Given the description of an element on the screen output the (x, y) to click on. 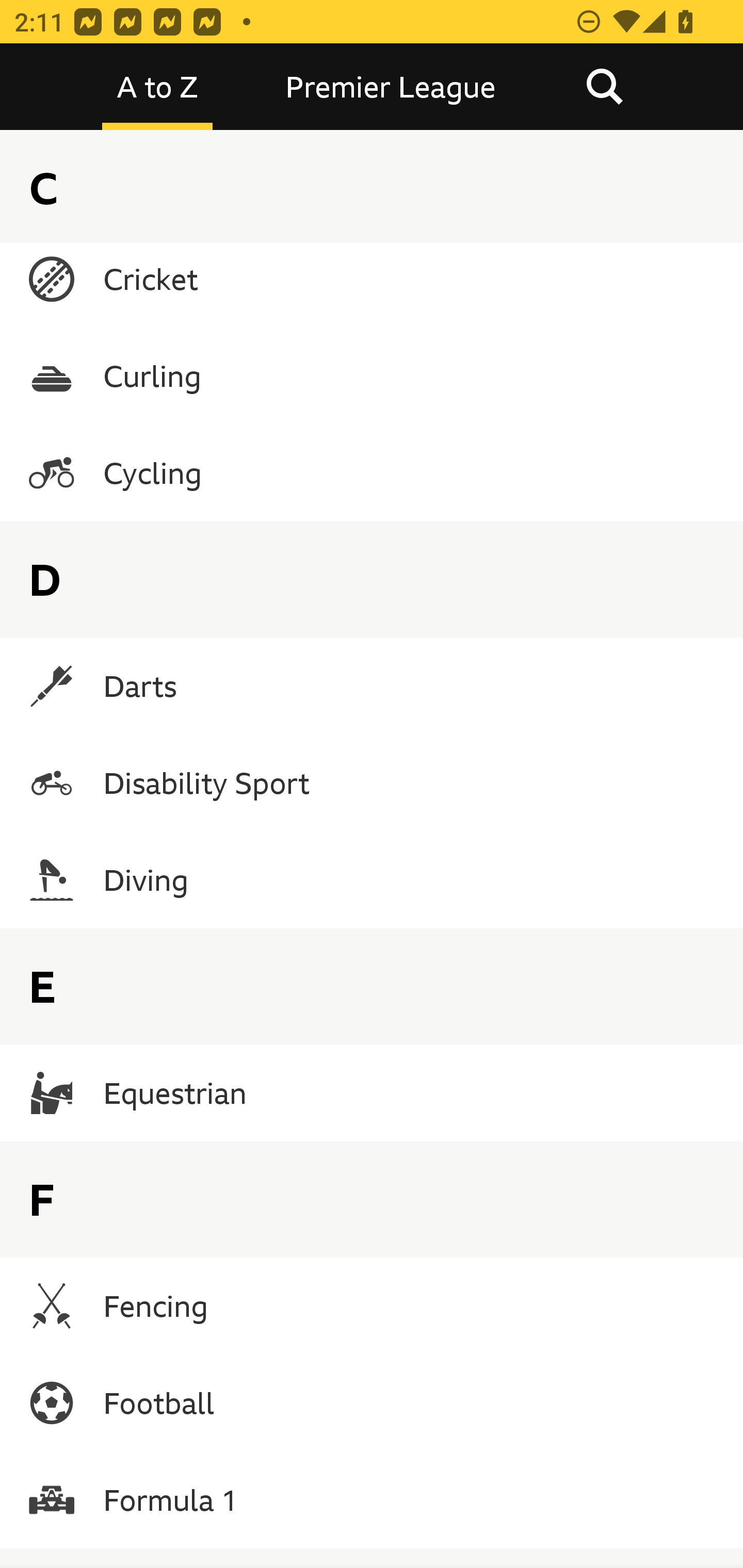
Premier League (390, 86)
Search (604, 86)
Commonwealth Games (371, 181)
Cricket (371, 278)
Curling (371, 375)
Cycling (371, 473)
Darts (371, 685)
Disability Sport (371, 782)
Diving (371, 879)
Equestrian (371, 1092)
Fencing (371, 1305)
Football (371, 1402)
Formula 1 (371, 1500)
